Given the description of an element on the screen output the (x, y) to click on. 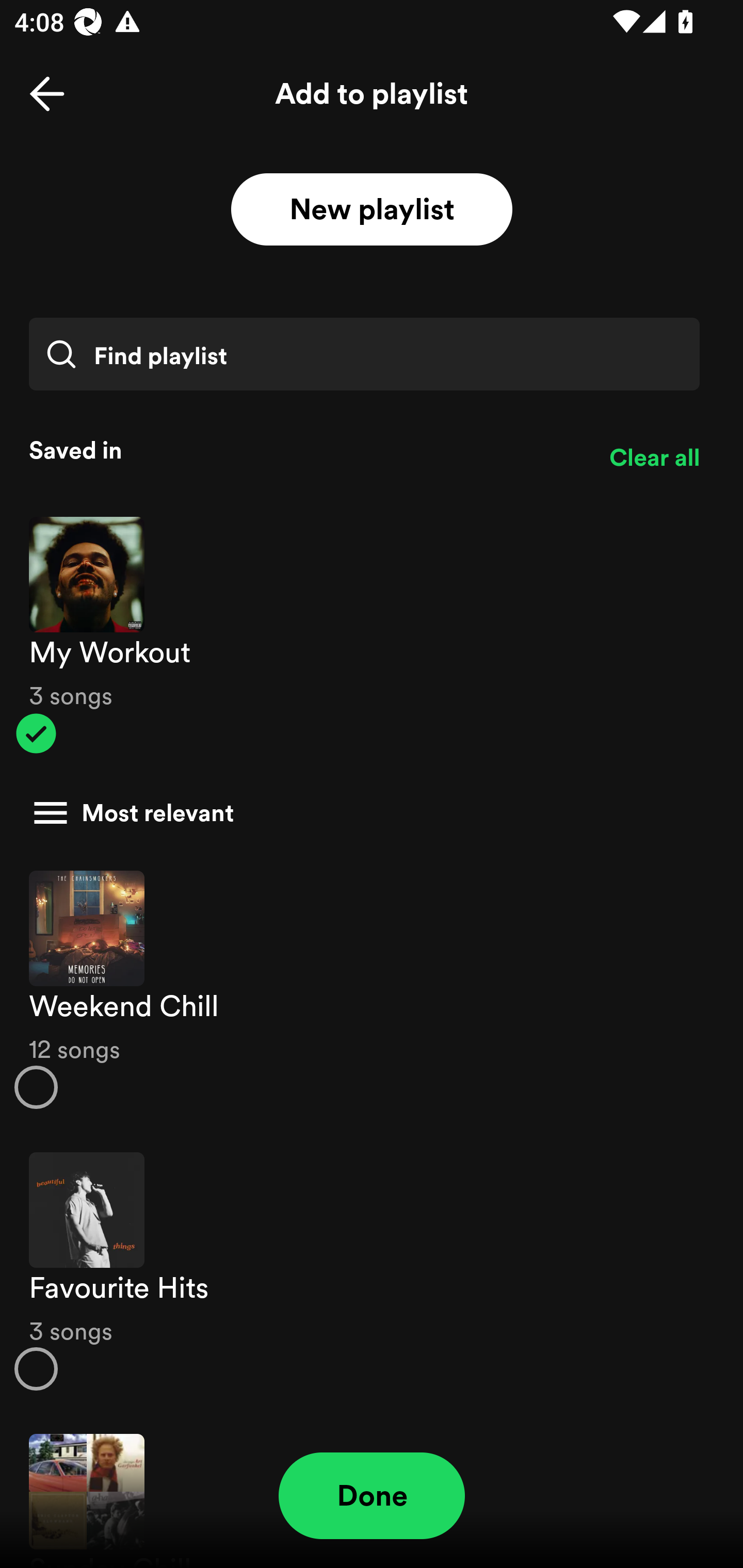
Back (46, 93)
New playlist (371, 210)
Find playlist (363, 354)
Saved in (304, 449)
Clear all (654, 457)
My Workout 3 songs (371, 635)
Most relevant (363, 812)
Weekend Chill 12 songs (371, 989)
Favourite Hits 3 songs (371, 1271)
Sunday Chill (371, 1490)
Done (371, 1495)
